Given the description of an element on the screen output the (x, y) to click on. 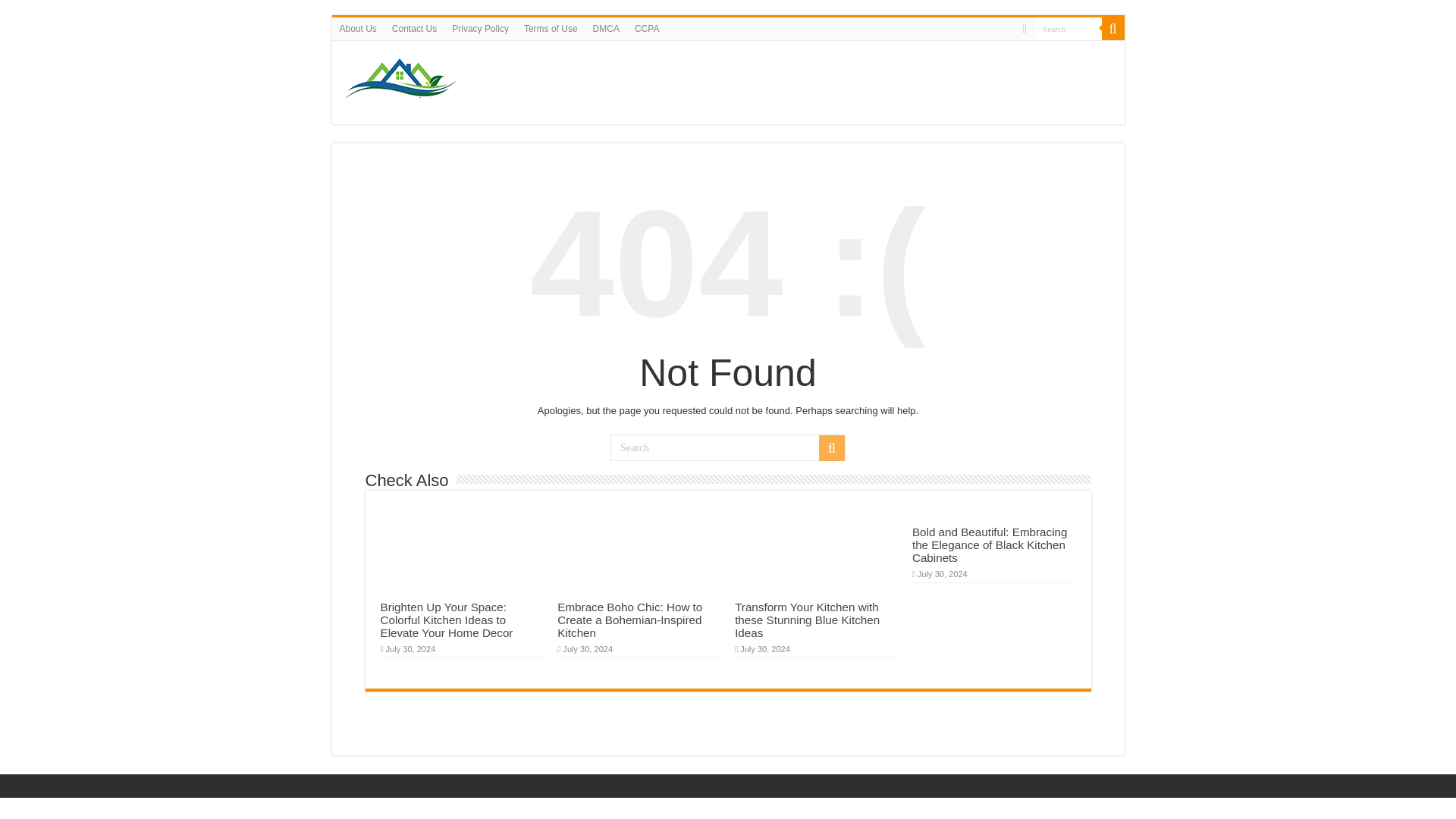
Search (831, 447)
Privacy Policy (480, 28)
CCPA (646, 28)
Terms of Use (550, 28)
Search (1066, 28)
Embrace Boho Chic: How to Create a Bohemian-Inspired Kitchen (629, 619)
Search (727, 447)
Contact Us (414, 28)
DMCA (606, 28)
About Us (357, 28)
Search (1066, 28)
Search (1112, 28)
